Given the description of an element on the screen output the (x, y) to click on. 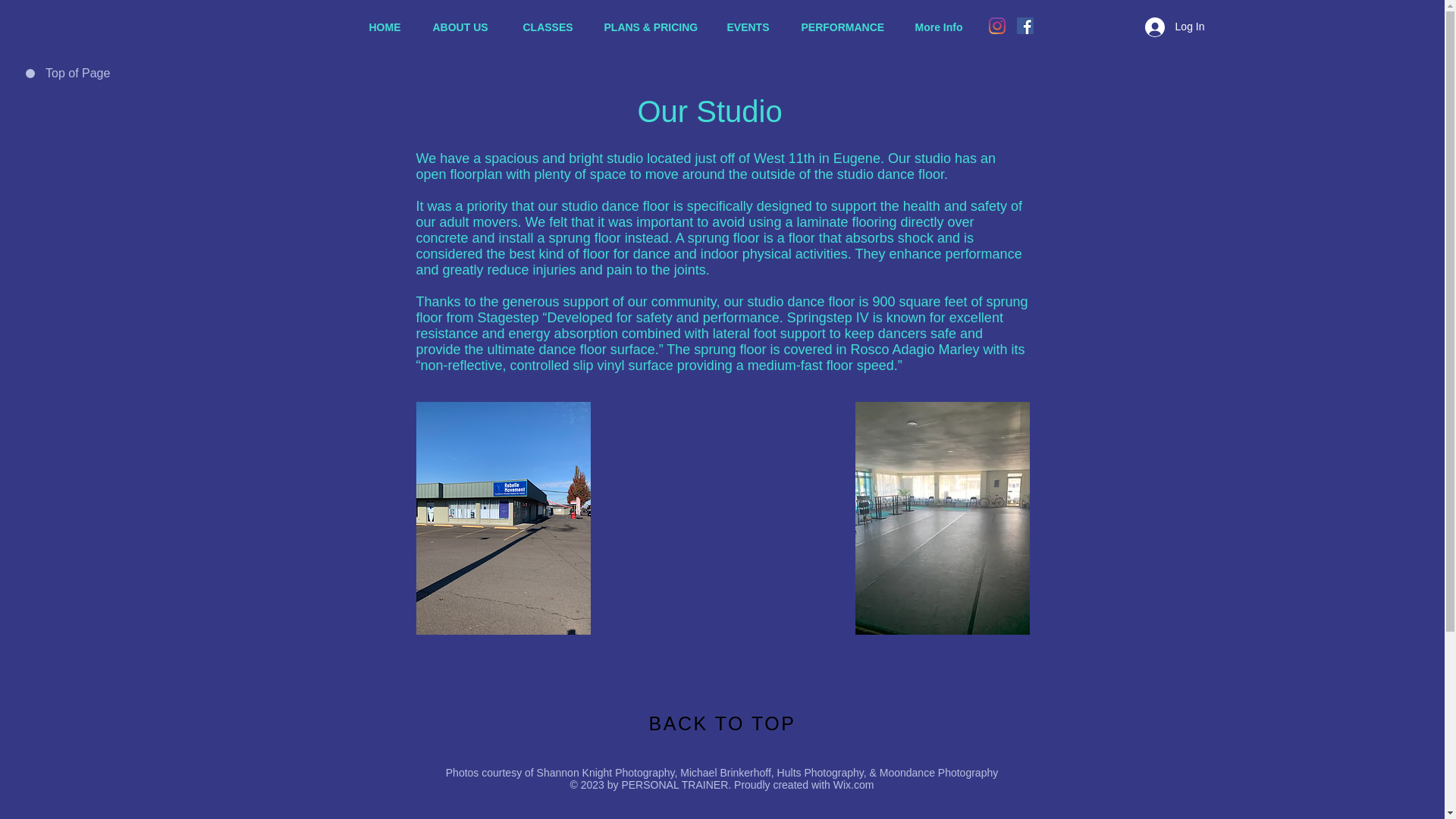
Log In (1174, 27)
HOME (390, 26)
EVENTS (753, 26)
ABOUT US (467, 26)
Wix.com (853, 784)
PERFORMANCE (847, 26)
BACK TO TOP (722, 722)
CLASSES (551, 26)
Top of Page (79, 73)
